Given the description of an element on the screen output the (x, y) to click on. 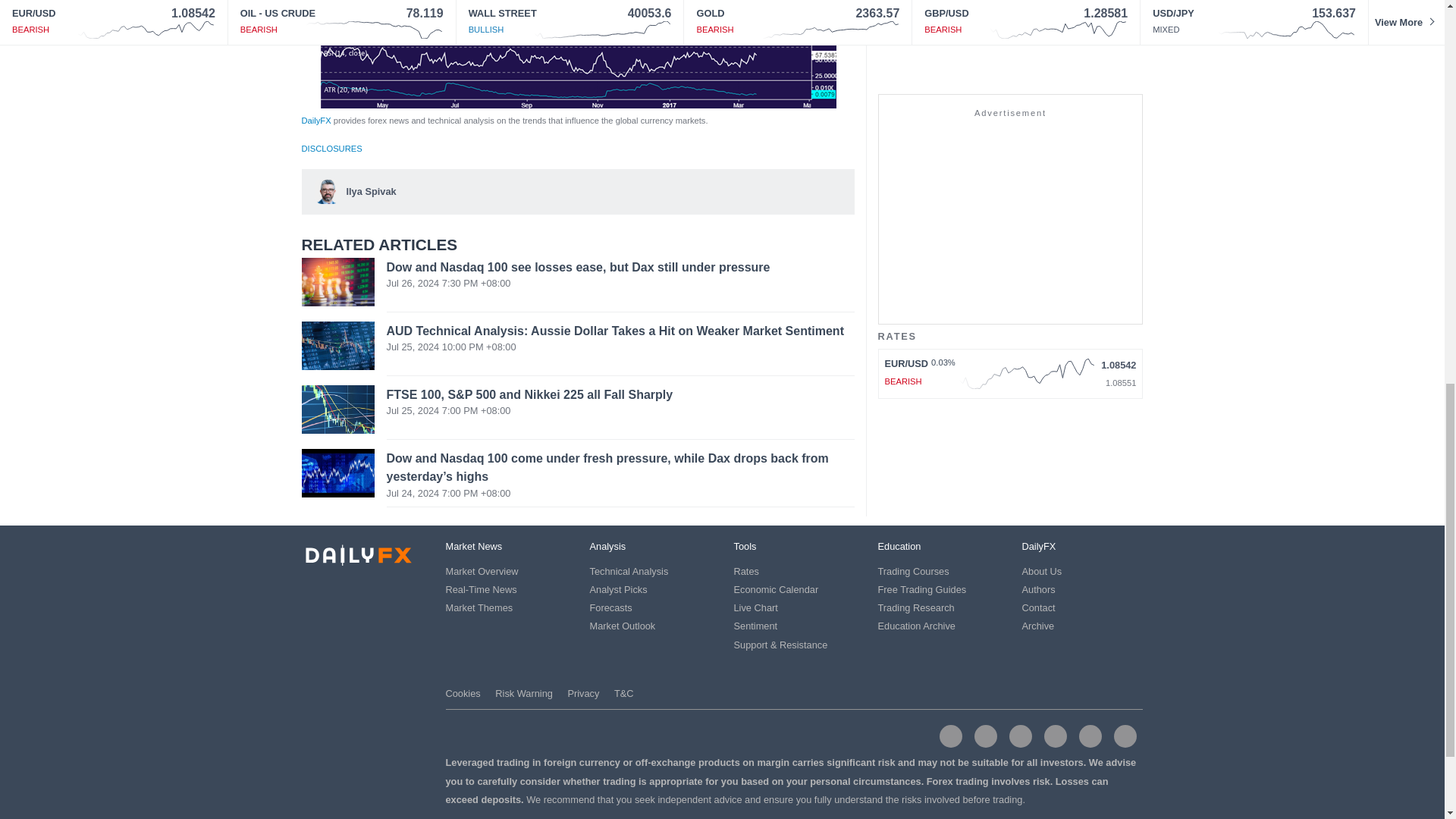
Tools (745, 546)
Rates (745, 571)
Economic Calendar (775, 589)
Market Themes (479, 607)
Analysis (607, 546)
Forecasts (610, 607)
Technical Analysis (628, 571)
Sentiment (755, 625)
Analyst Picks (618, 589)
Market Outlook (622, 625)
Live Chart (755, 607)
Market News (473, 546)
Market Overview (481, 571)
Real-Time News (480, 589)
